Given the description of an element on the screen output the (x, y) to click on. 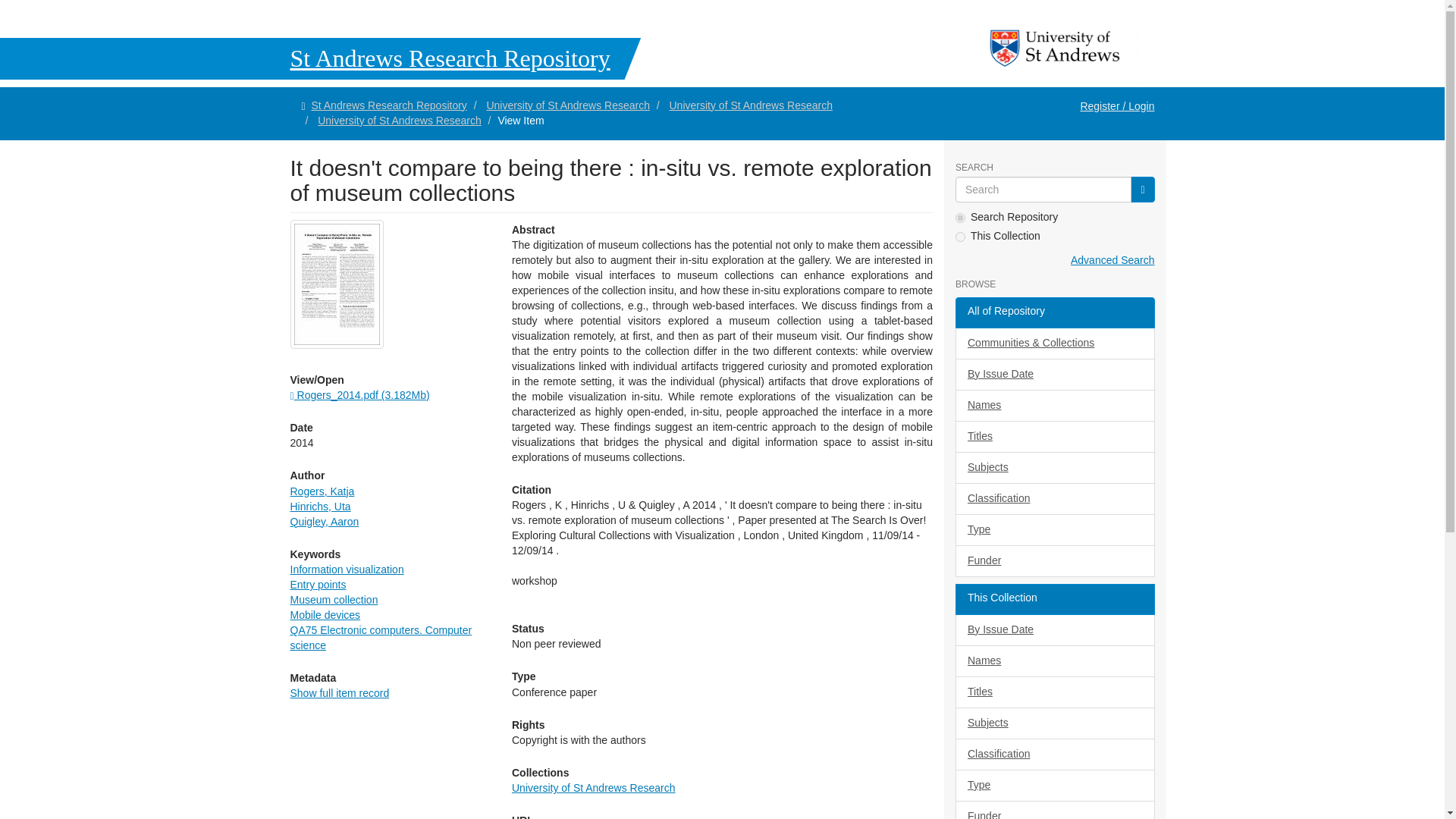
Advanced Search (1112, 259)
Rogers, Katja (321, 491)
University of St Andrews Research (750, 105)
University of St Andrews Research (399, 120)
St Andrews Research Repository (320, 58)
Names (1054, 405)
Go (1142, 189)
University of St Andrews Research (567, 105)
Hinrichs, Uta (319, 506)
Information visualization (346, 569)
Quigley, Aaron (323, 521)
Entry points (317, 584)
Show full item record (338, 693)
By Issue Date (1054, 374)
St Andrews Research Repository (388, 105)
